Given the description of an element on the screen output the (x, y) to click on. 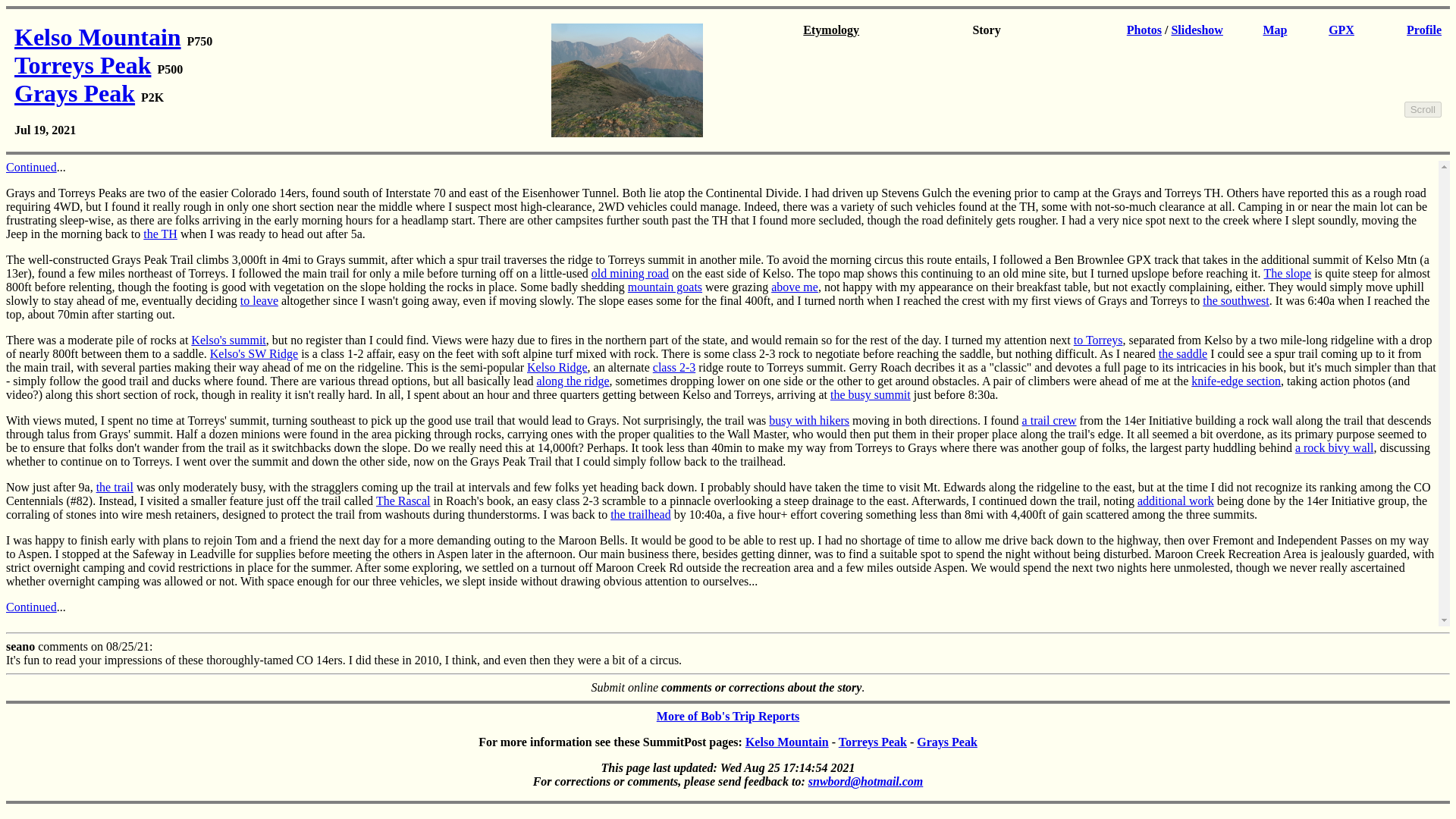
Torreys Peak (82, 64)
Profile (1423, 29)
Kelso's SW Ridge (253, 354)
Kelso Ridge (557, 367)
a trail crew (1049, 420)
GPX (1340, 29)
The slope (1287, 273)
busy with hikers (808, 420)
the saddle (1182, 354)
Kelso Mountain (786, 741)
